Given the description of an element on the screen output the (x, y) to click on. 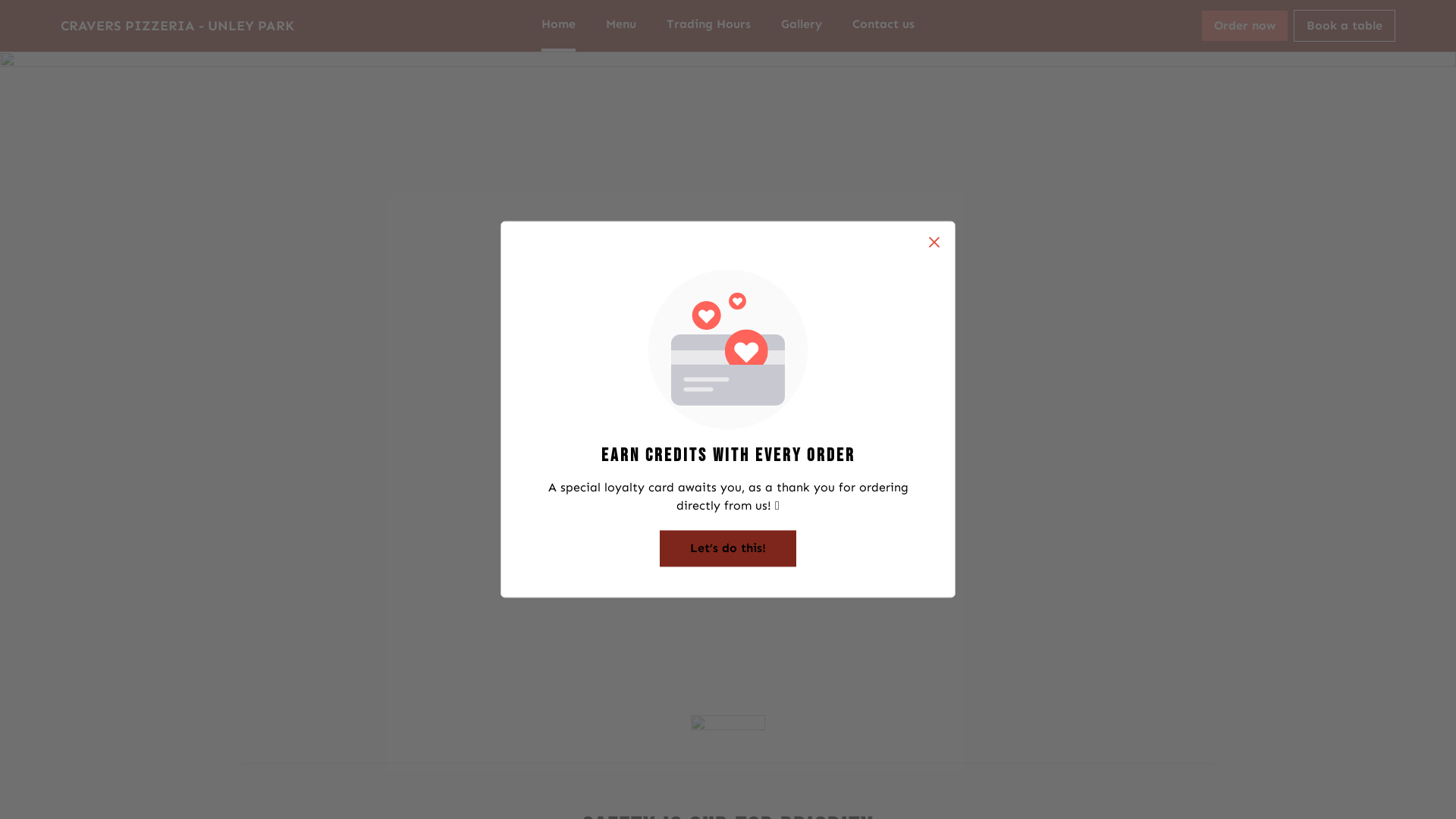
CRAVERS PIZZERIA - UNLEY PARK Element type: text (177, 25)
Menu Element type: text (620, 25)
Book a table Element type: text (1344, 25)
Order now Element type: text (1244, 25)
Contact us Element type: text (883, 25)
Home Element type: text (558, 25)
Gallery Element type: text (801, 25)
Trading Hours Element type: text (708, 25)
